Given the description of an element on the screen output the (x, y) to click on. 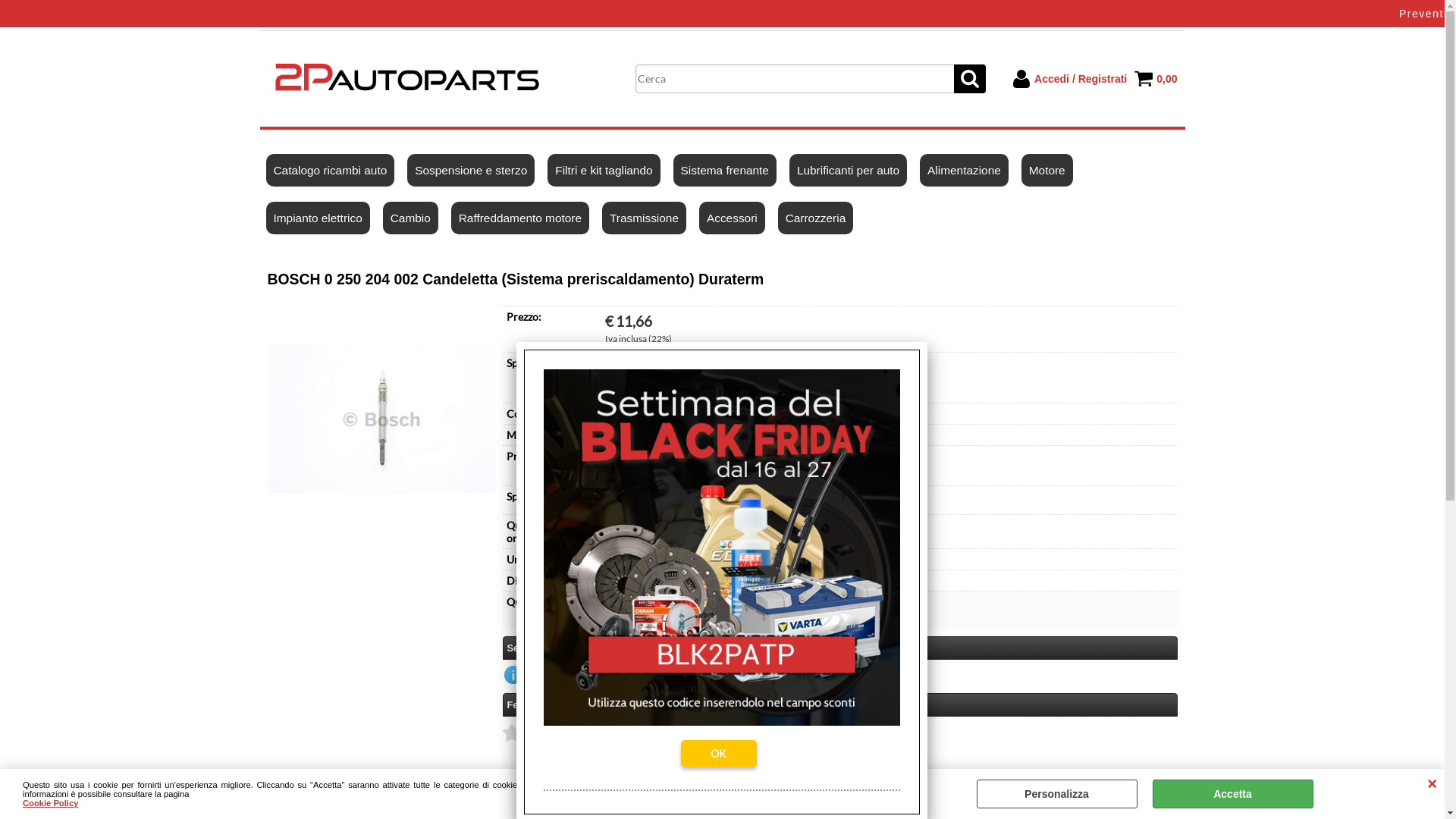
Carrozzeria Element type: text (816, 217)
Motore Element type: text (1047, 169)
Raffreddamento motore Element type: text (520, 217)
Registrati Element type: text (1068, 188)
Bosch Element type: text (619, 434)
OK Element type: text (718, 753)
Personalizza Element type: text (1056, 793)
Accetta Element type: text (1232, 793)
ok Element type: text (15, 14)
Sospensione e sterzo Element type: text (471, 169)
Accedi Element type: text (843, 288)
Filtri e kit tagliando Element type: text (603, 169)
Richiedi informazioni Element type: text (568, 674)
Cookie Policy Element type: text (50, 802)
Cambio Element type: text (410, 217)
Maggiori dettagli Element type: text (889, 385)
Impianto elettrico Element type: text (317, 217)
Aggiungi Element type: text (729, 608)
Catalogo ricambi auto Element type: text (330, 169)
Accessori Element type: text (732, 217)
CHIUDI Element type: text (1432, 783)
Sistema frenante Element type: text (725, 169)
Lascia un feedback sul prodotto Element type: text (685, 733)
Lubrificanti per auto Element type: text (848, 169)
Trasmissione Element type: text (644, 217)
0,00 Element type: text (1155, 78)
Vai al carrello Element type: text (1031, 175)
Accedi / Registrati Element type: text (1069, 78)
Alimentazione Element type: text (964, 169)
Scheda Element type: text (286, 789)
